Given the description of an element on the screen output the (x, y) to click on. 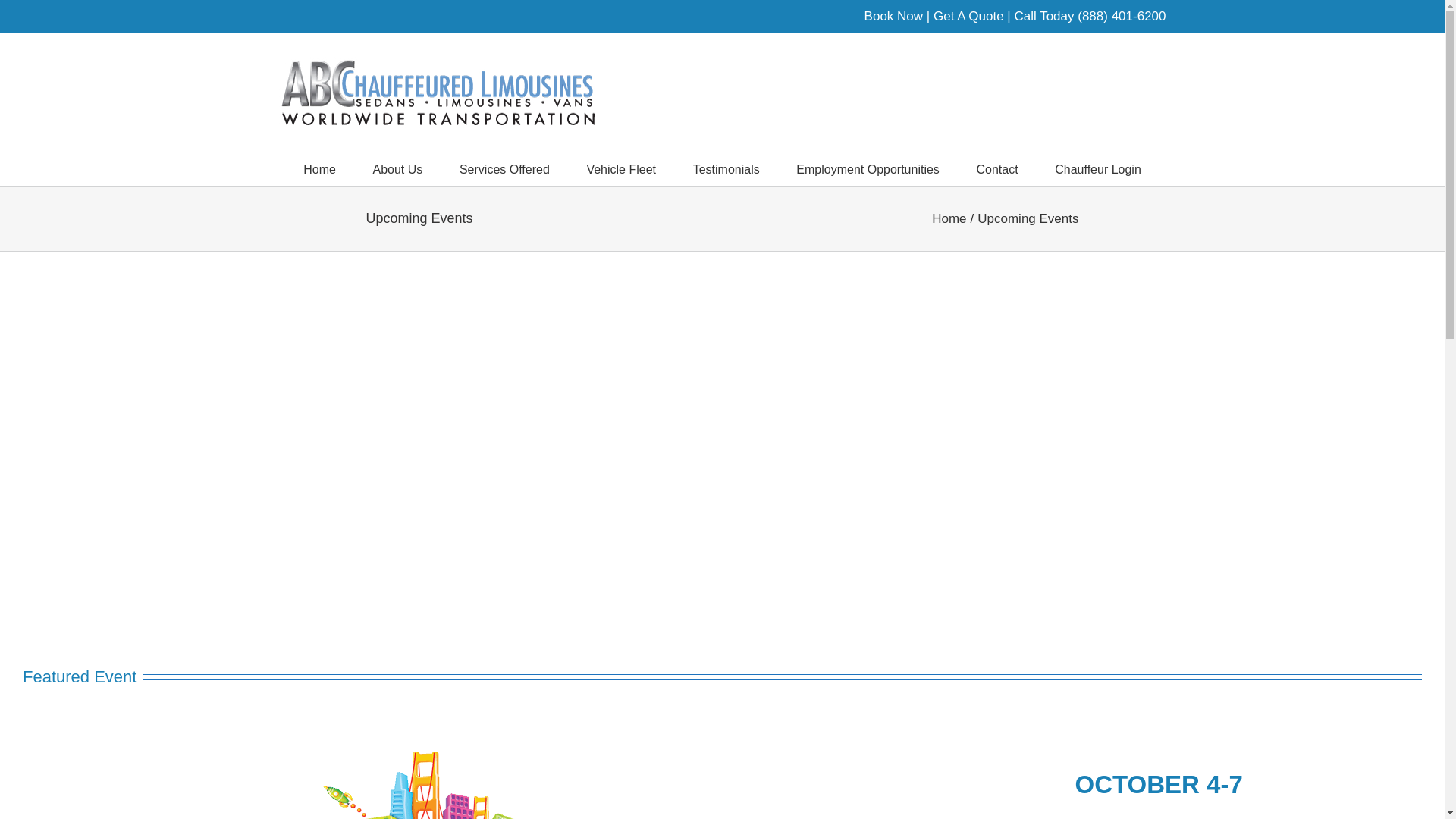
Home (319, 168)
Testimonials (726, 168)
Book Now (893, 16)
Contact (996, 168)
Vehicle Fleet (621, 168)
Home (319, 168)
Get A Quote (968, 16)
About Us (397, 168)
About Us (397, 168)
Services Offered (505, 168)
